Given the description of an element on the screen output the (x, y) to click on. 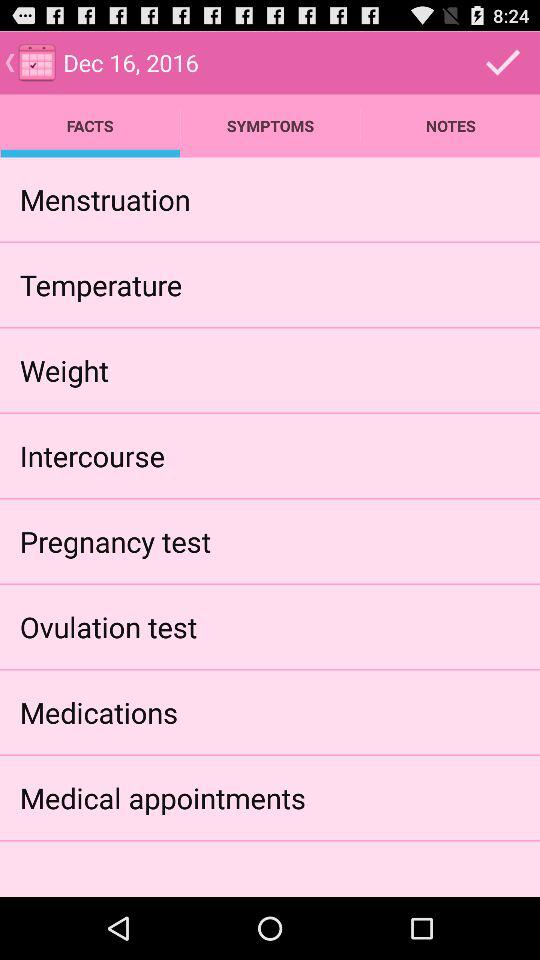
press menstruation (104, 199)
